Given the description of an element on the screen output the (x, y) to click on. 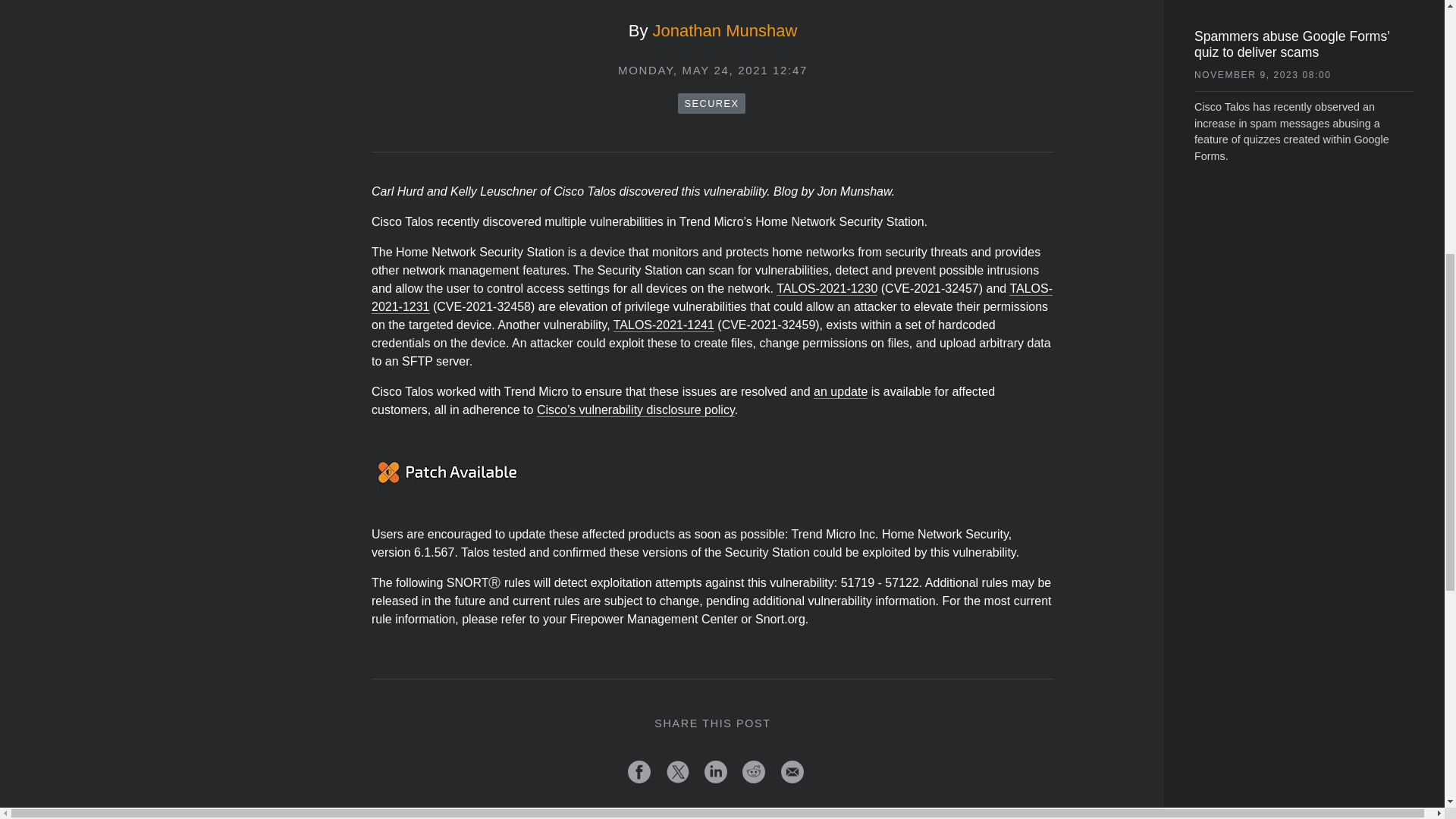
Post This (677, 771)
TALOS-2021-1231 (711, 296)
Share this on Facebook (638, 771)
Reddit This (753, 771)
Email This (791, 771)
SECUREX (711, 103)
an update (840, 391)
TALOS-2021-1241 (663, 324)
Jonathan Munshaw (724, 30)
TALOS-2021-1230 (826, 287)
